Given the description of an element on the screen output the (x, y) to click on. 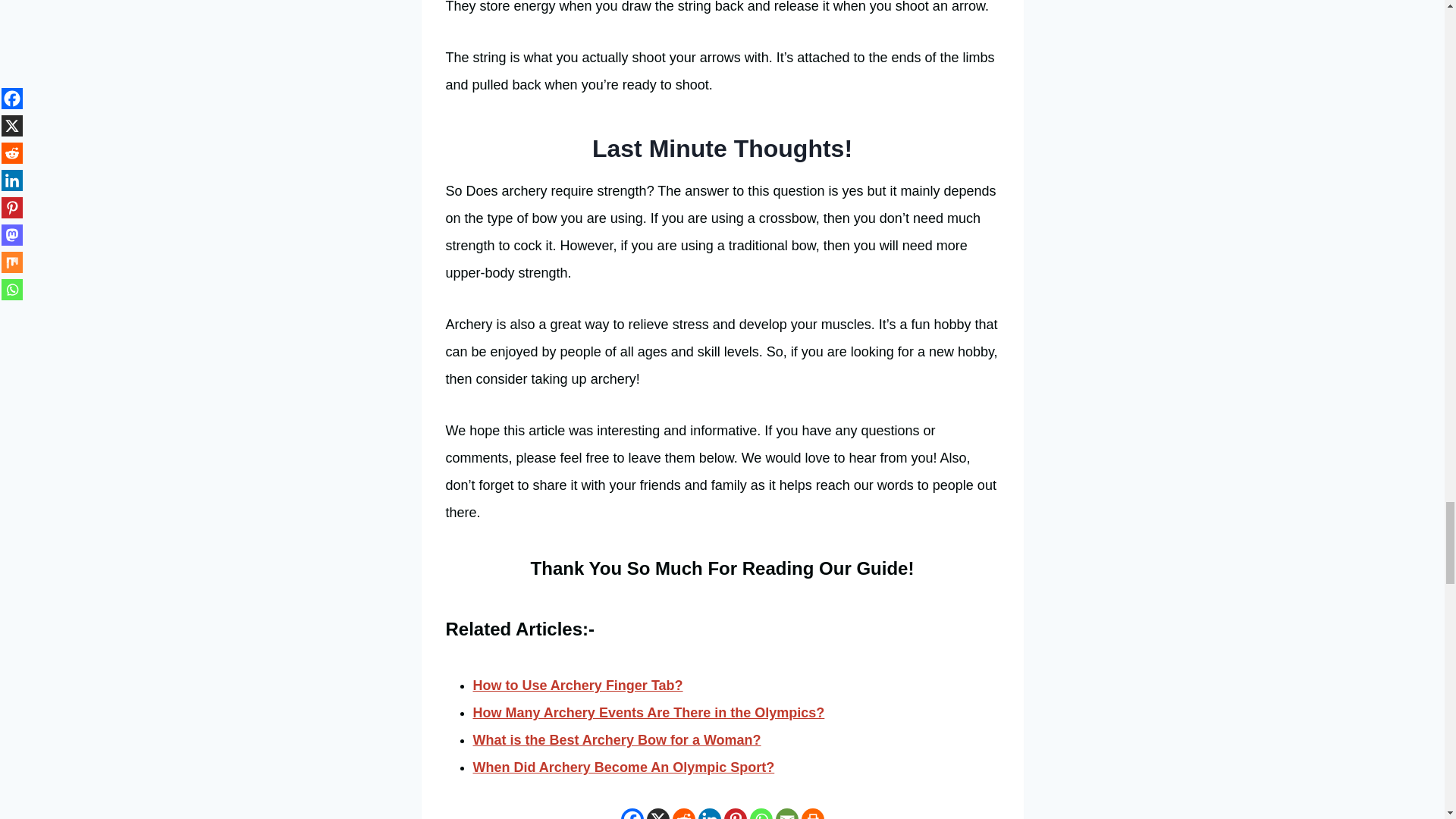
How Many Archery Events Are There in the Olympics? (649, 712)
Whatsapp (760, 813)
Facebook (631, 813)
Email (785, 813)
Reddit (682, 813)
When Did Archery Become An Olympic Sport? (623, 767)
Print (812, 813)
How to Use Archery Finger Tab? (577, 685)
What is the Best Archery Bow for a Woman? (617, 739)
X (657, 813)
